Given the description of an element on the screen output the (x, y) to click on. 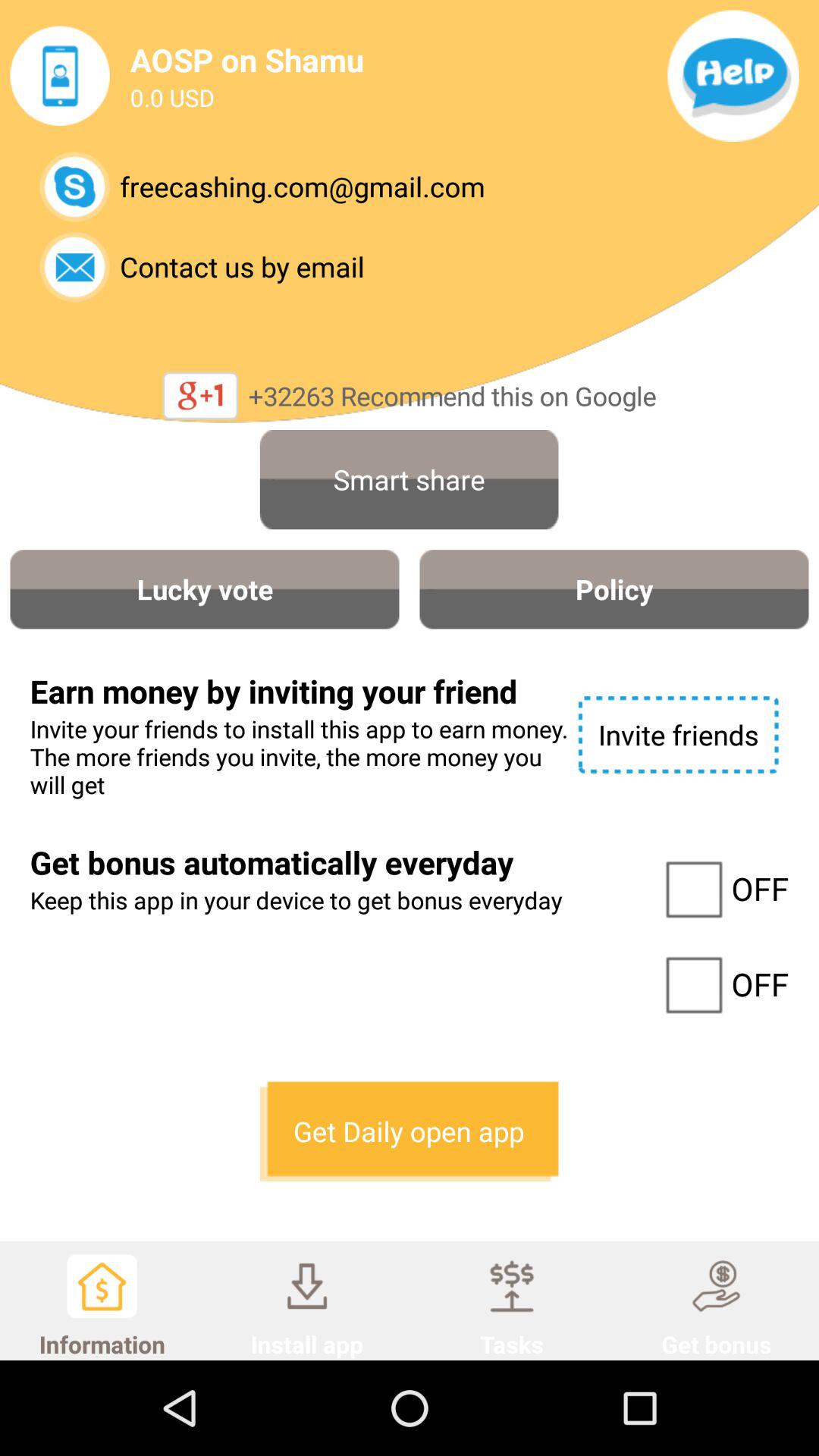
gmail.opening button (74, 186)
